Given the description of an element on the screen output the (x, y) to click on. 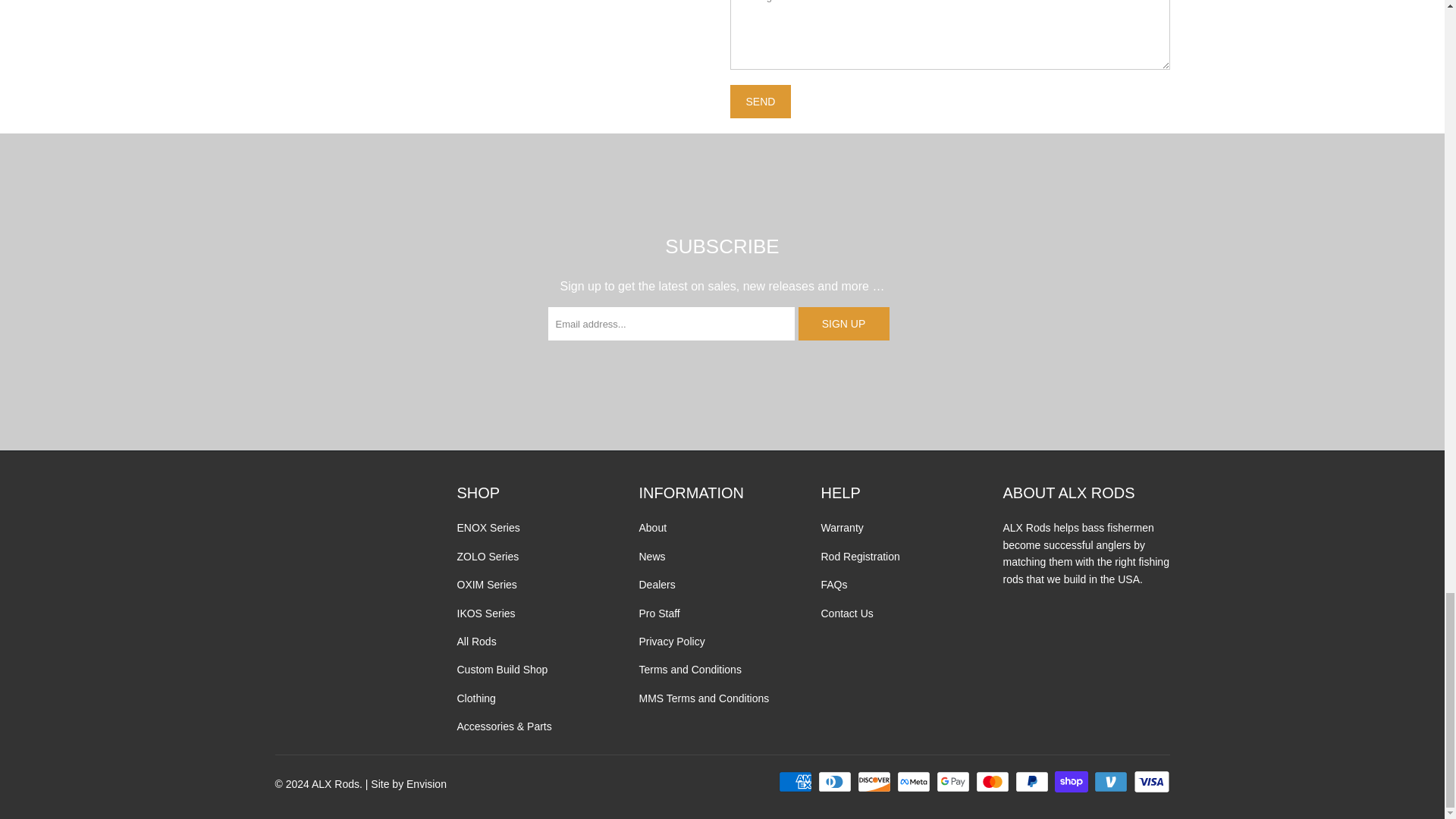
American Express (796, 781)
Send (759, 101)
Mastercard (993, 781)
Google Pay (954, 781)
Diners Club (836, 781)
Shop Pay (1072, 781)
Sign Up (842, 323)
Visa (1150, 781)
Discover (875, 781)
PayPal (1032, 781)
